Given the description of an element on the screen output the (x, y) to click on. 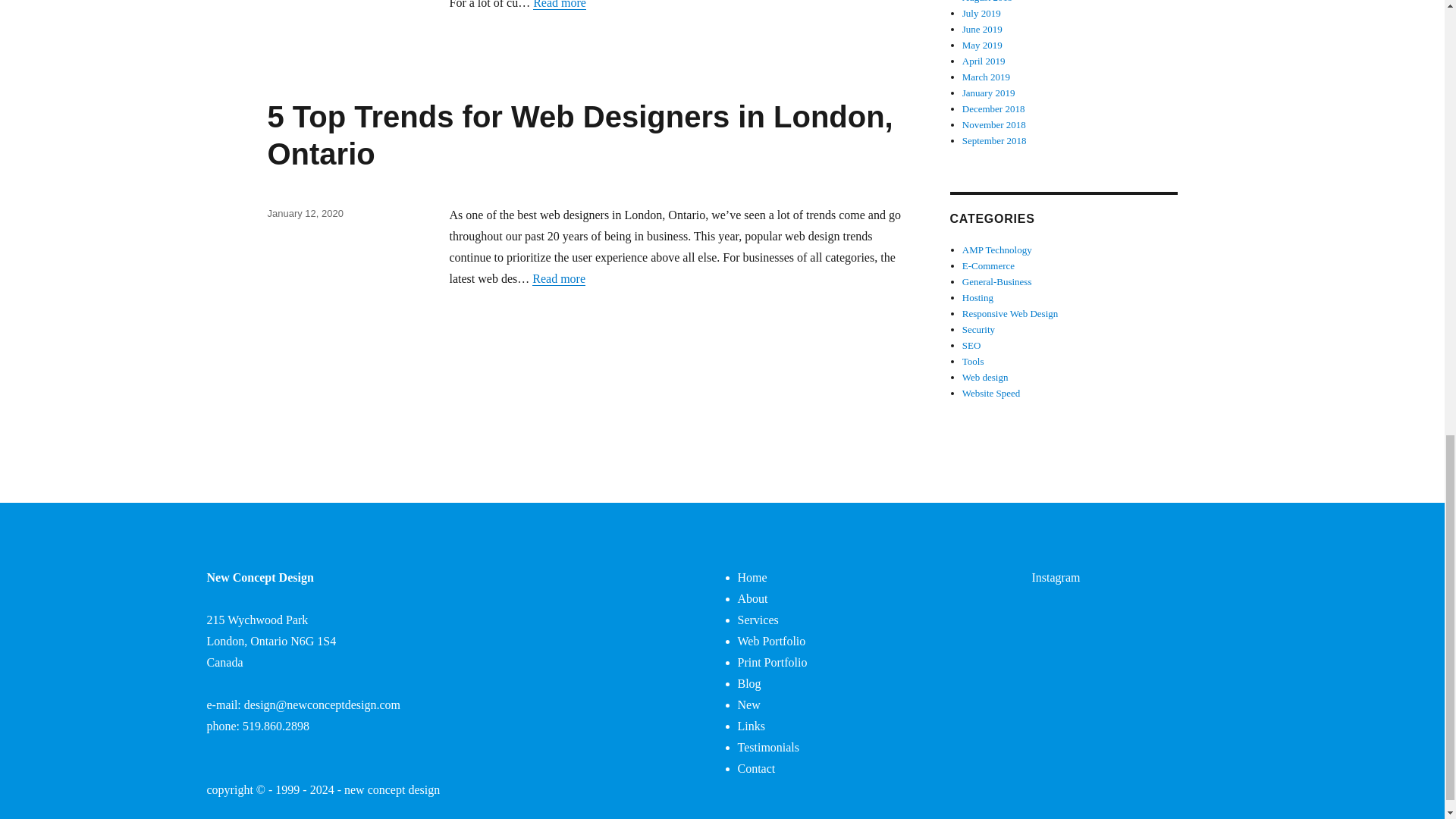
5 Top Trends for Web Designers in London, Ontario (579, 134)
January 12, 2020 (304, 213)
Read more (558, 278)
Read more (559, 4)
